Given the description of an element on the screen output the (x, y) to click on. 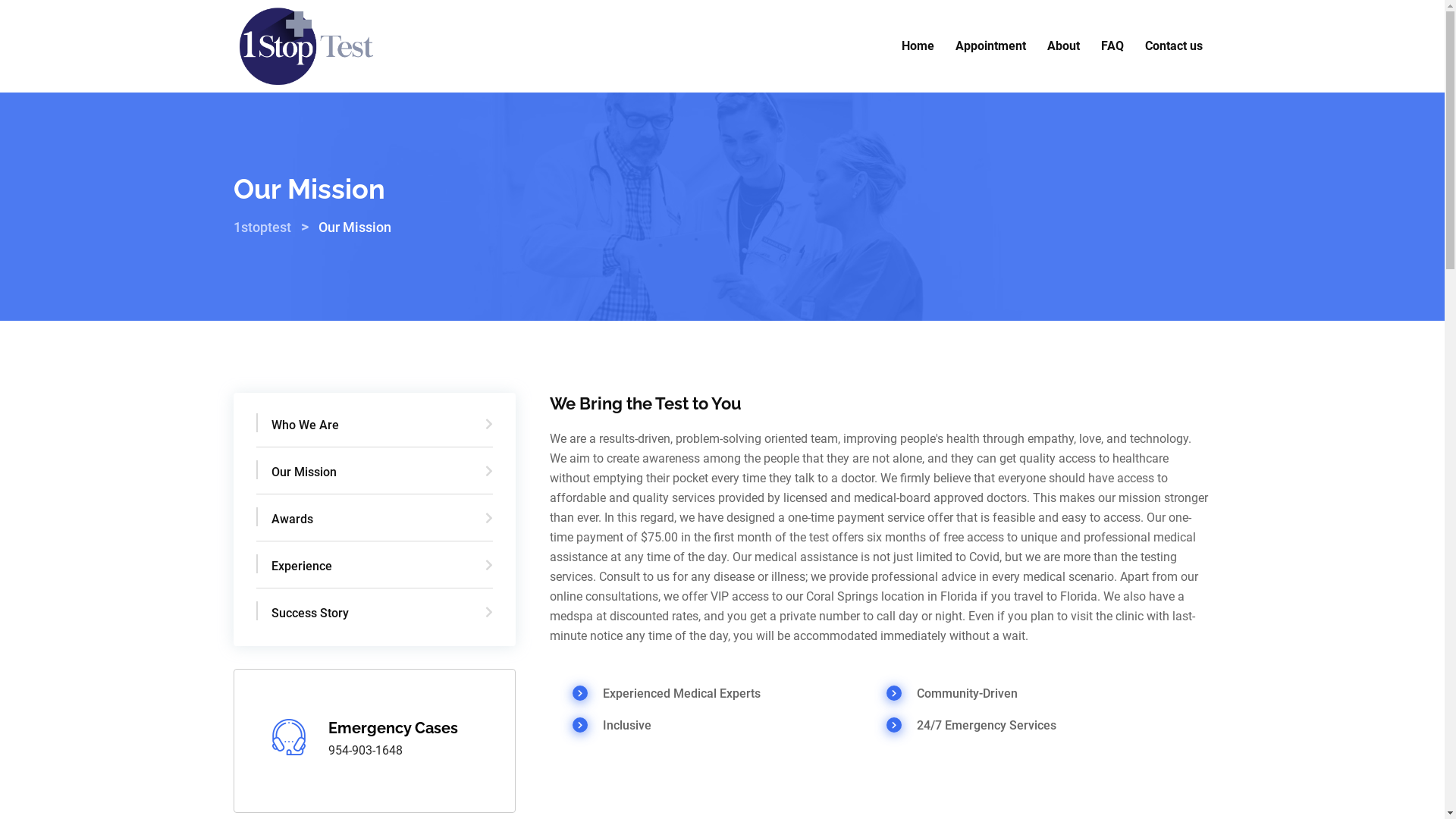
Contact us Element type: text (1173, 46)
Awards Element type: text (374, 525)
Success Story Element type: text (374, 613)
Home Element type: text (916, 46)
Appointment Element type: text (990, 46)
About Element type: text (1062, 46)
1stoptest Element type: text (262, 227)
Emergency Cases Element type: text (392, 727)
Experience Element type: text (374, 572)
Who We Are Element type: text (374, 431)
FAQ Element type: text (1112, 46)
Our Mission Element type: text (374, 478)
